Given the description of an element on the screen output the (x, y) to click on. 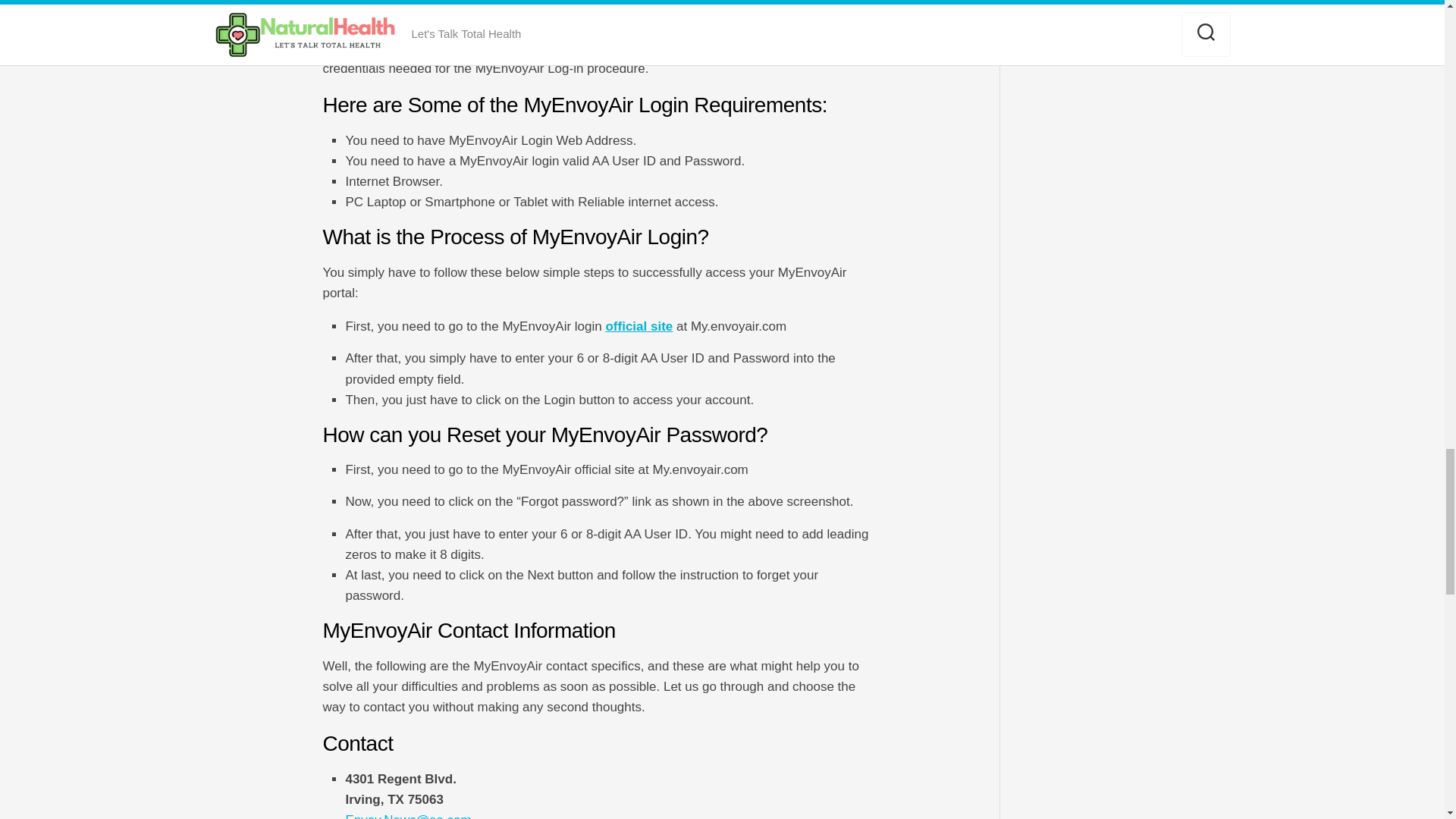
official site (638, 326)
